Given the description of an element on the screen output the (x, y) to click on. 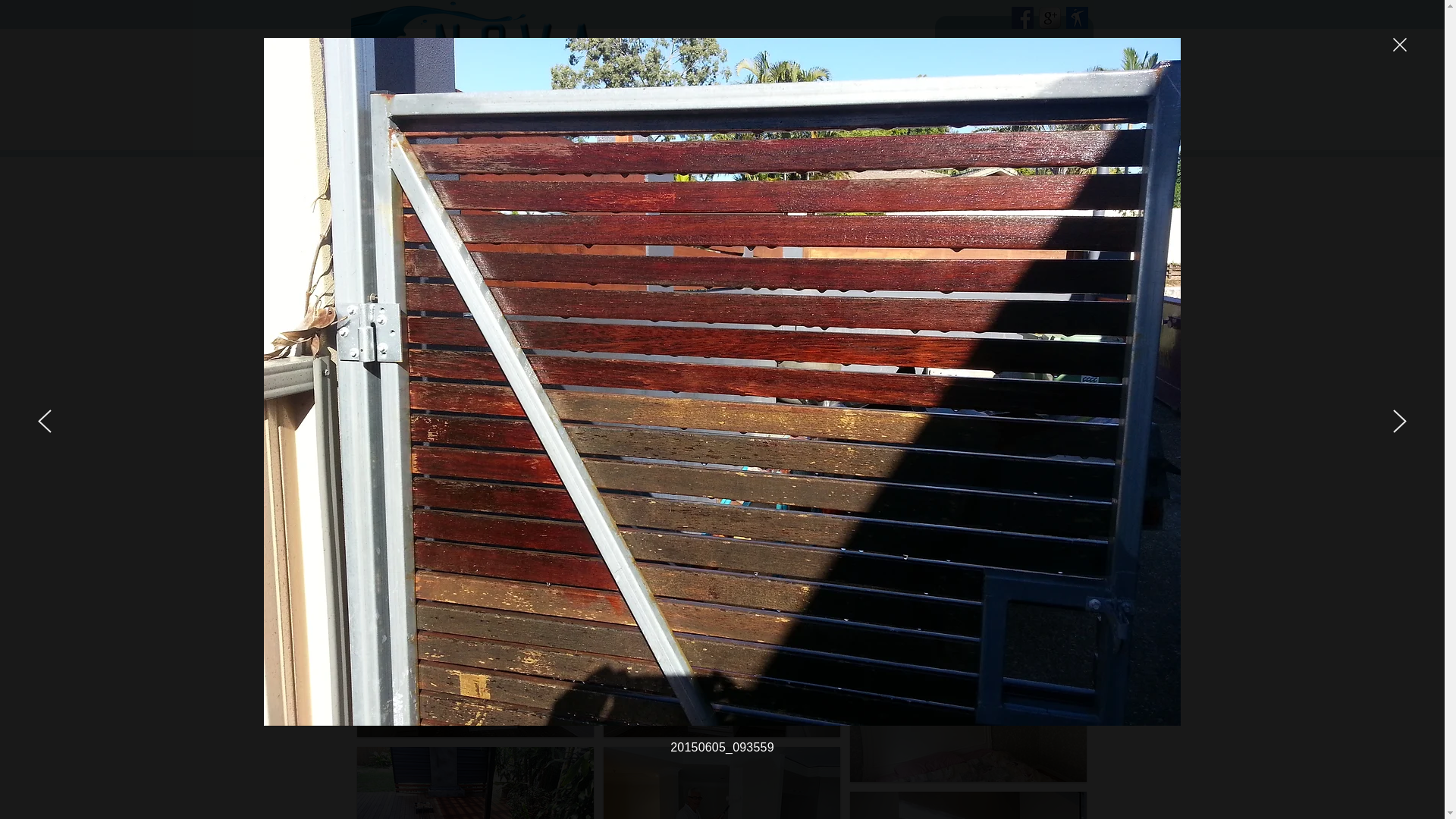
SERVICES Element type: text (901, 128)
HOME Element type: text (749, 128)
CONTACT US Element type: text (1052, 128)
ABOUT US Element type: text (825, 128)
GALLERY Element type: text (977, 128)
